Given the description of an element on the screen output the (x, y) to click on. 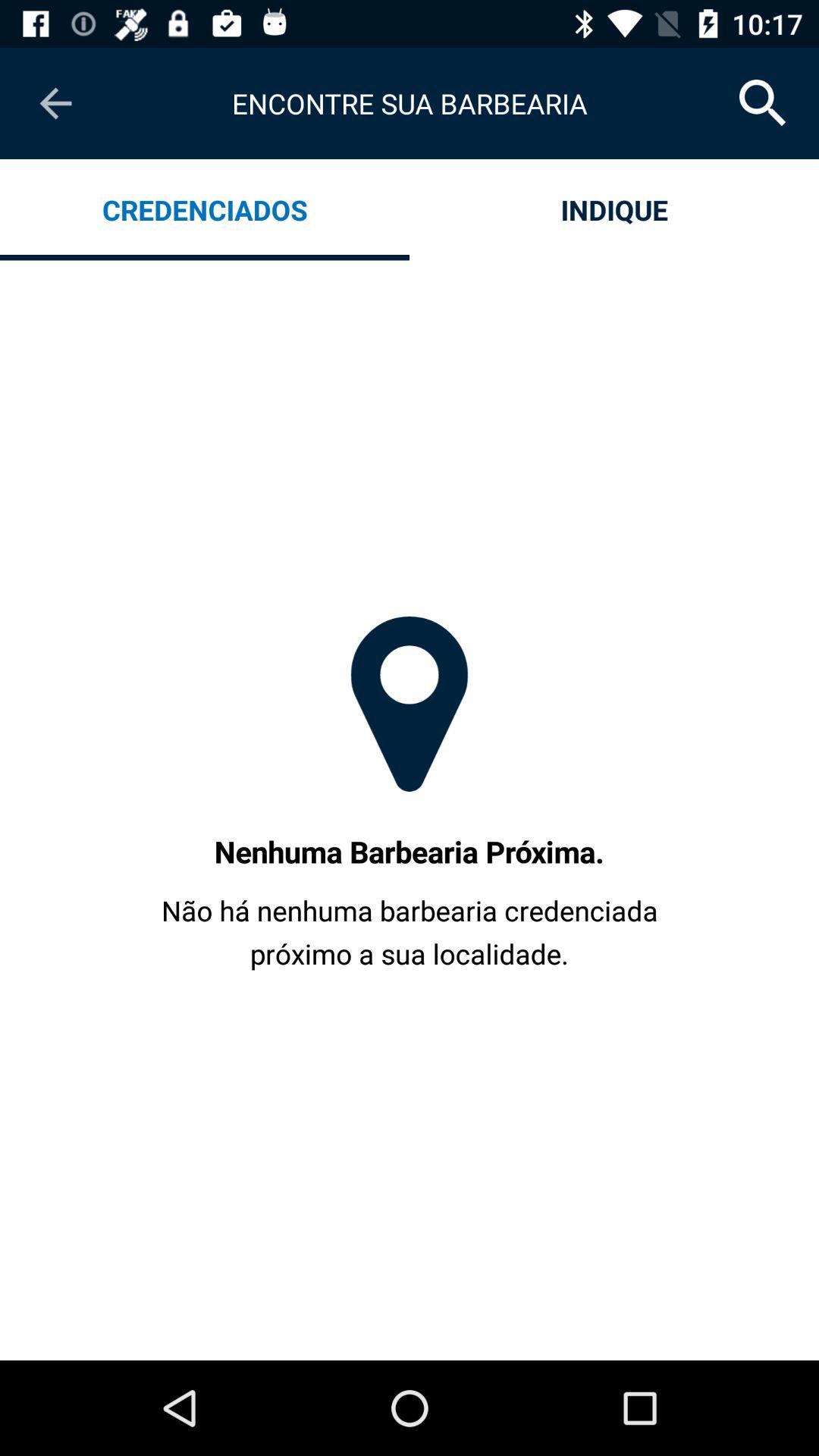
select item next to encontre sua barbearia (55, 103)
